Given the description of an element on the screen output the (x, y) to click on. 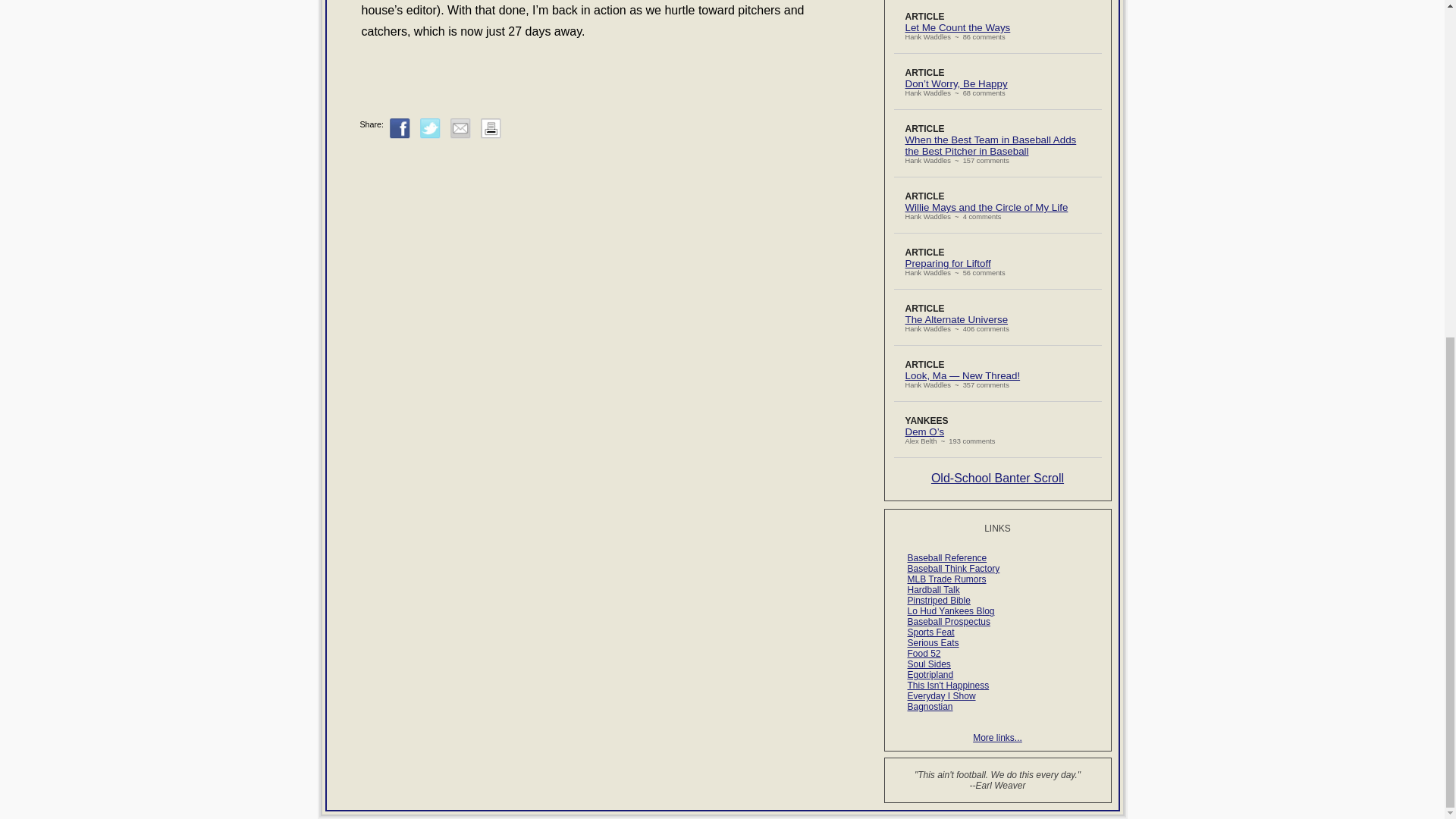
Print This Post (490, 127)
Share via email (459, 127)
Share on Twitter (430, 127)
Share on Facebook (400, 127)
Permanent link to Preparing for Liftoff (948, 263)
Permanent link to Willie Mays and the Circle of My Life (986, 206)
Permanent link to The Alternate Universe (957, 319)
Print This Post (490, 135)
Permanent link to Let Me Count the Ways (957, 27)
